Given the description of an element on the screen output the (x, y) to click on. 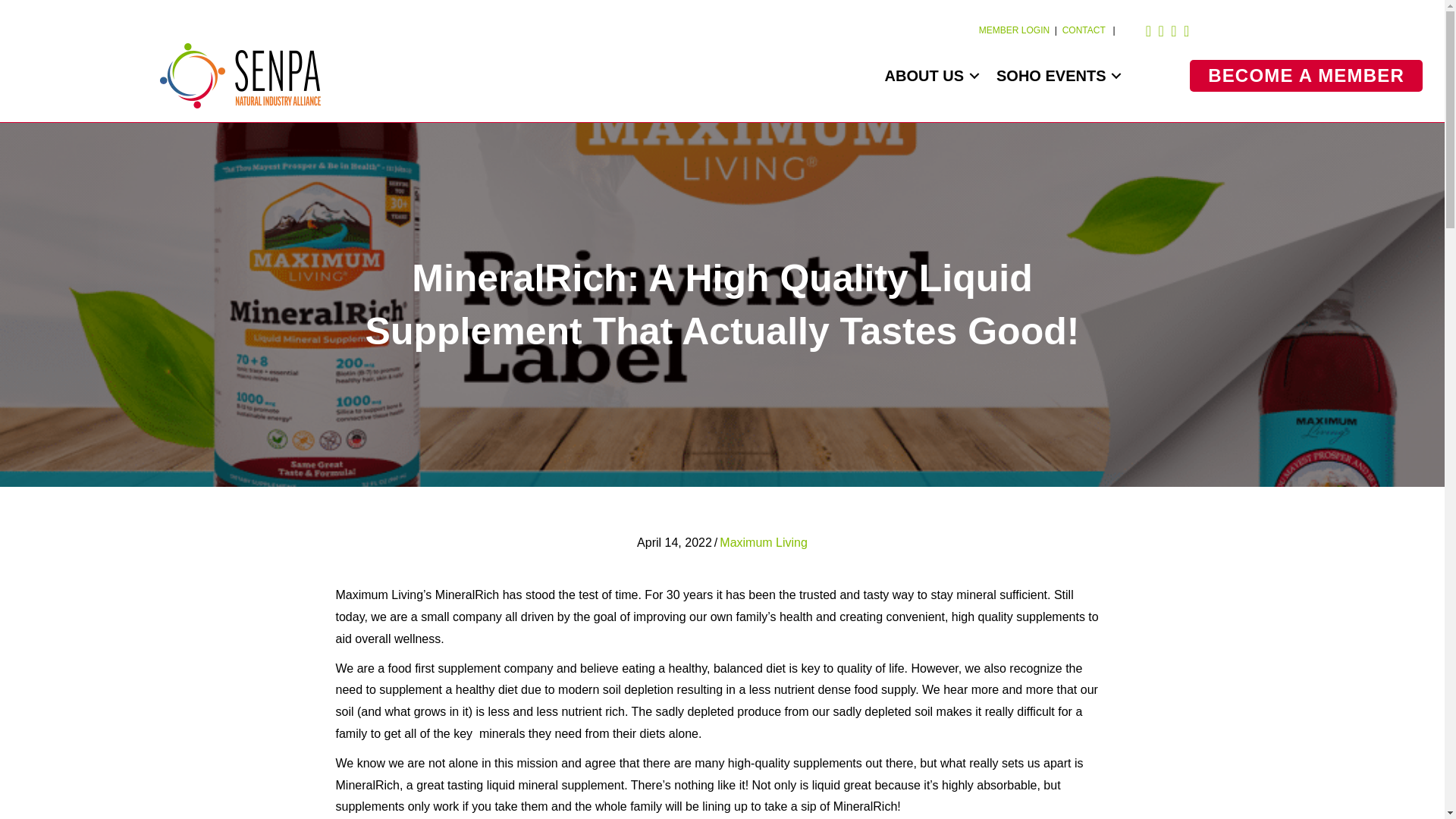
SOHO EVENTS (1055, 75)
Click Here (1305, 75)
CONTACT (1085, 30)
MEMBER LOGIN (1013, 30)
logo (240, 75)
ABOUT US (930, 75)
BECOME A MEMBER (1305, 75)
Maximum Living (763, 542)
